Given the description of an element on the screen output the (x, y) to click on. 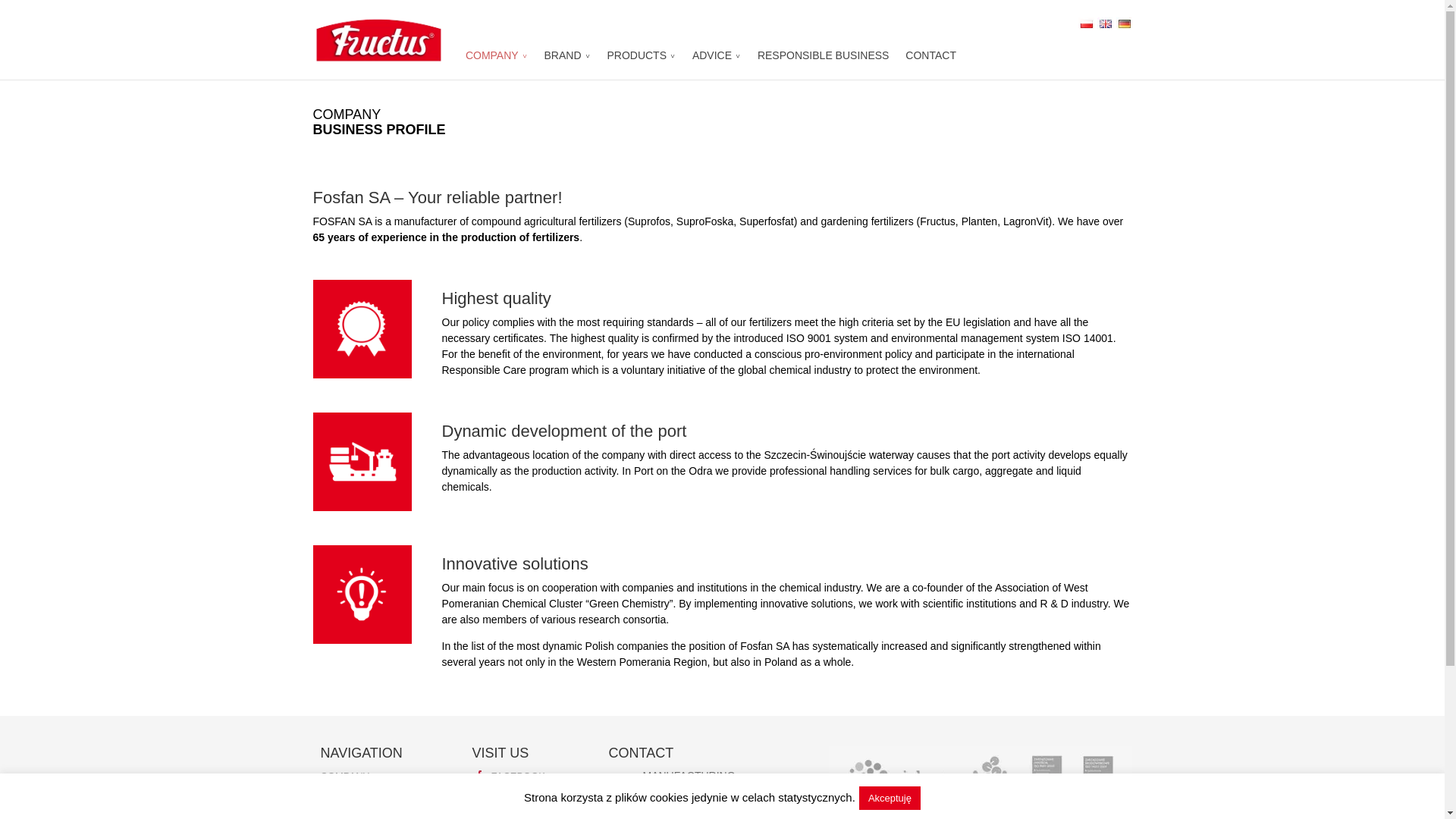
PRODUCTS (641, 61)
COMPANY (496, 61)
BRAND (567, 61)
